Given the description of an element on the screen output the (x, y) to click on. 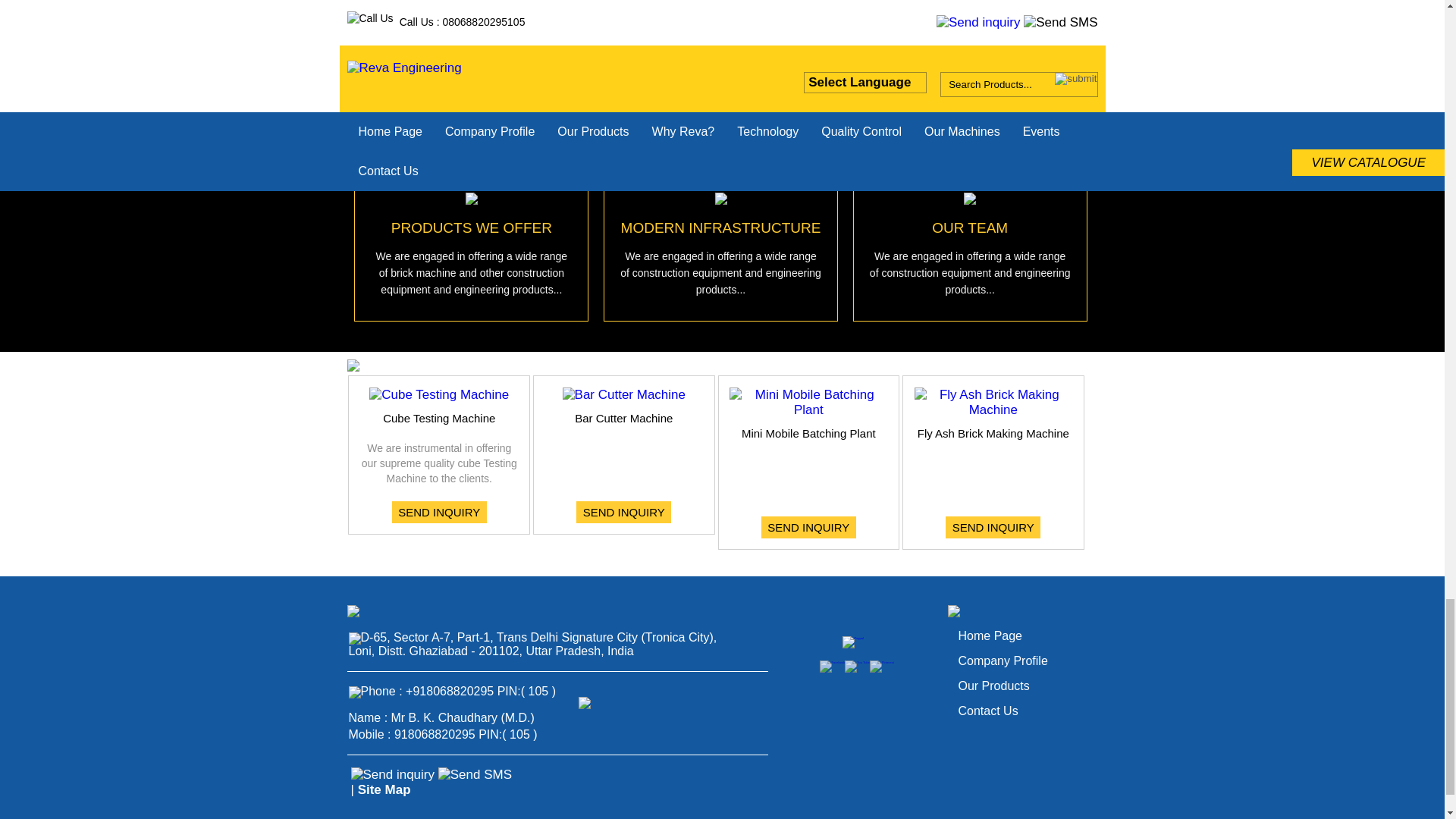
Send inquiry (391, 774)
Cube Testing Machine (438, 394)
Accepts payment through paypal (853, 642)
Bar Cutter Machine (623, 394)
Services (382, 154)
Facebook (832, 666)
Send SMS (475, 774)
Accepts payment through paypal (853, 641)
Fly Ash Brick Making Machine (992, 401)
You Tube (856, 666)
Pinterest (881, 666)
Mini Mobile Batching Plant (807, 401)
